Given the description of an element on the screen output the (x, y) to click on. 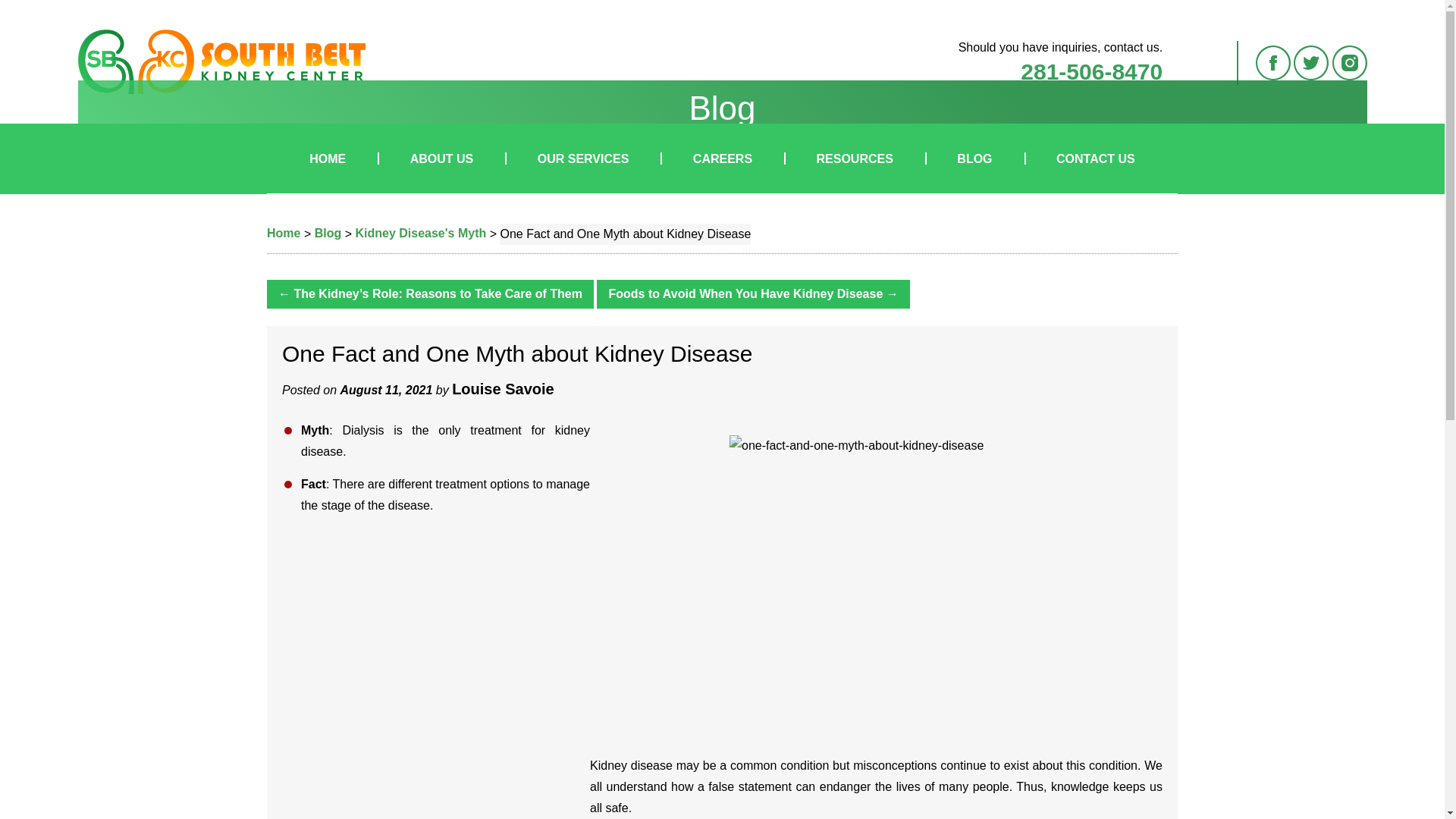
HOME (327, 158)
Blog (328, 233)
CAREERS (722, 158)
Go to Home. (282, 233)
Go to the Kidney Disease's Myth category archives. (420, 233)
ABOUT US (441, 158)
Go to Blog. (328, 233)
Home (282, 233)
BLOG (974, 158)
August 11, 2021 (386, 390)
